Given the description of an element on the screen output the (x, y) to click on. 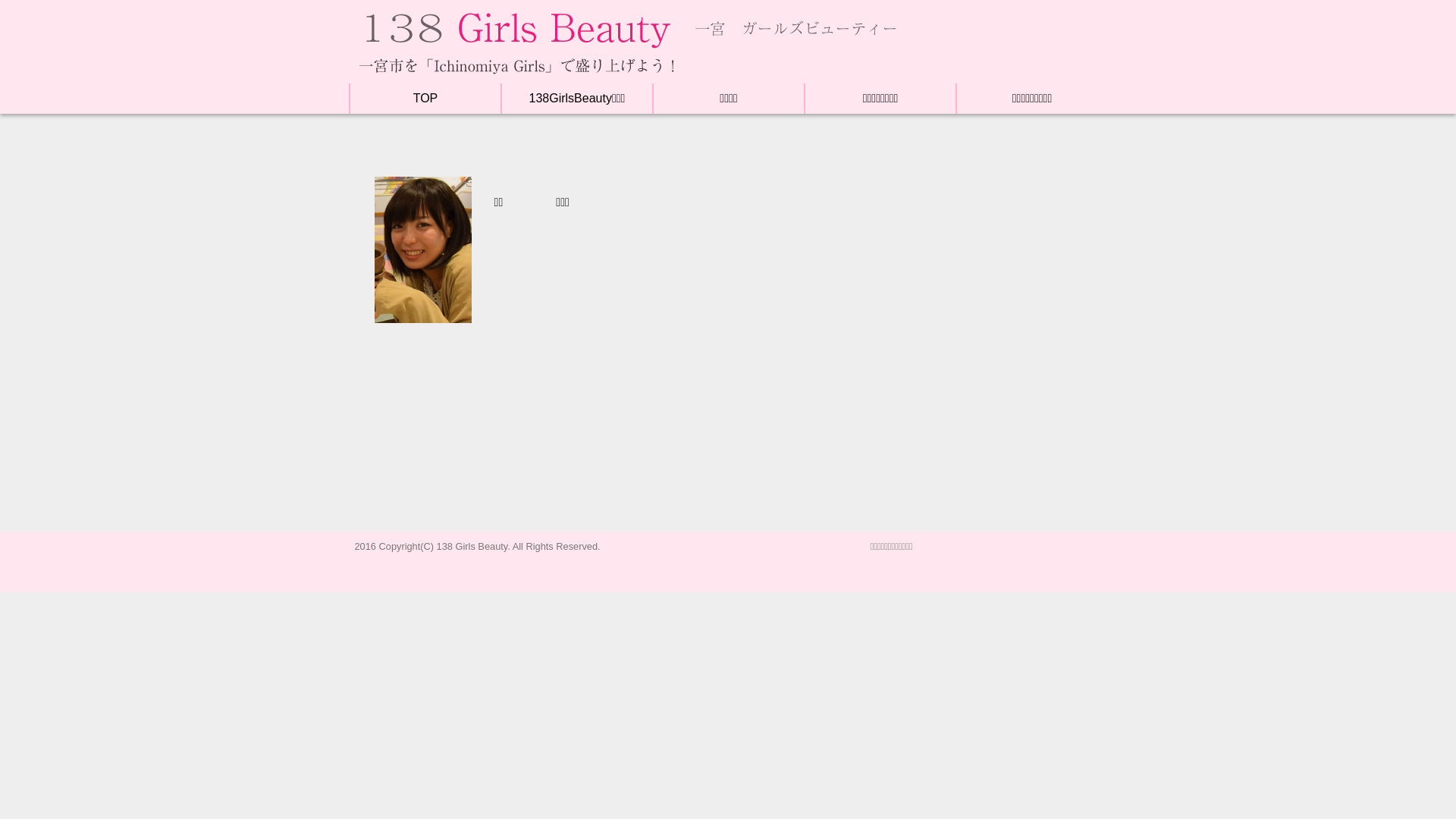
TOP Element type: text (425, 97)
